Given the description of an element on the screen output the (x, y) to click on. 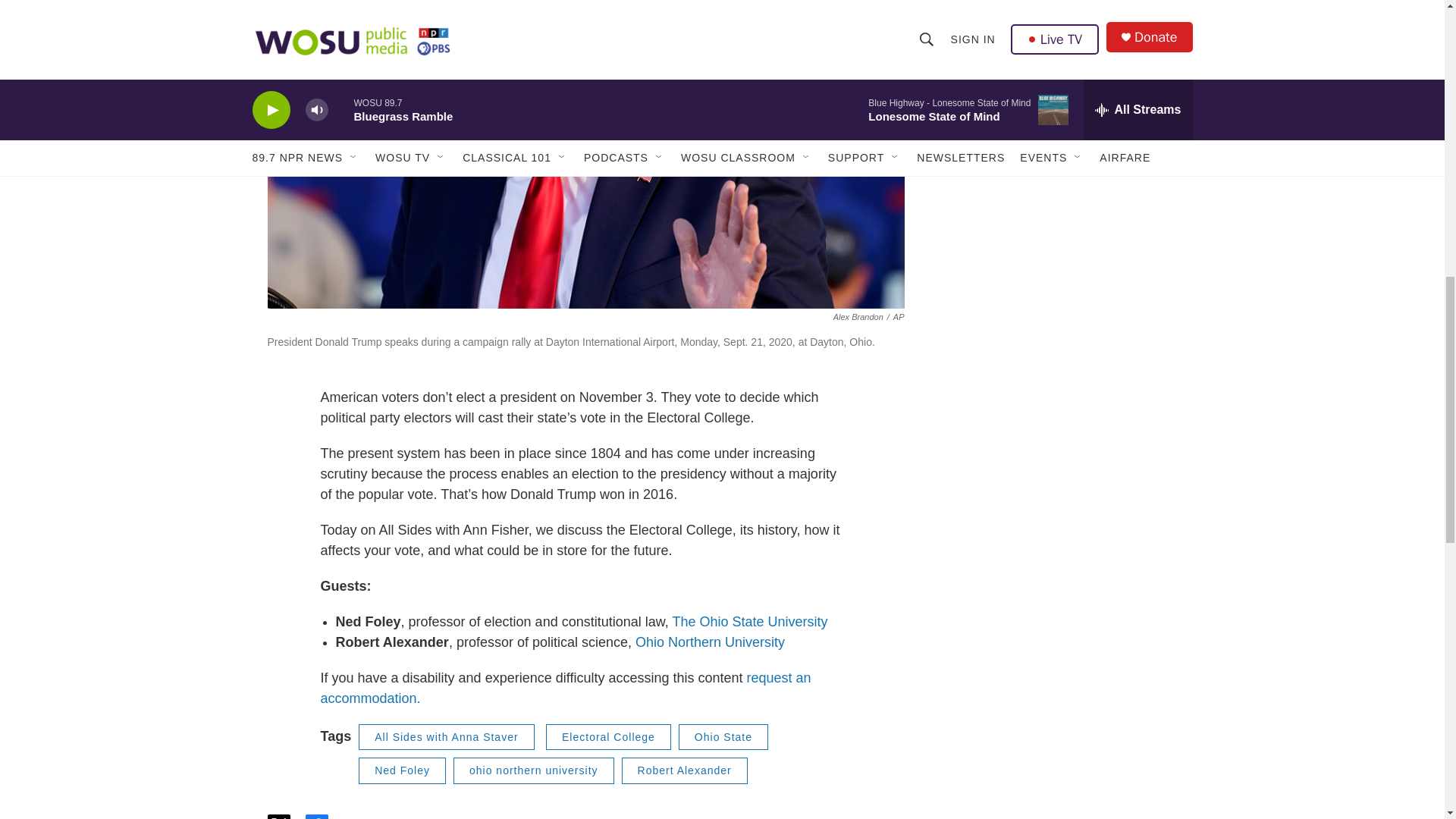
3rd party ad content (1062, 58)
